Given the description of an element on the screen output the (x, y) to click on. 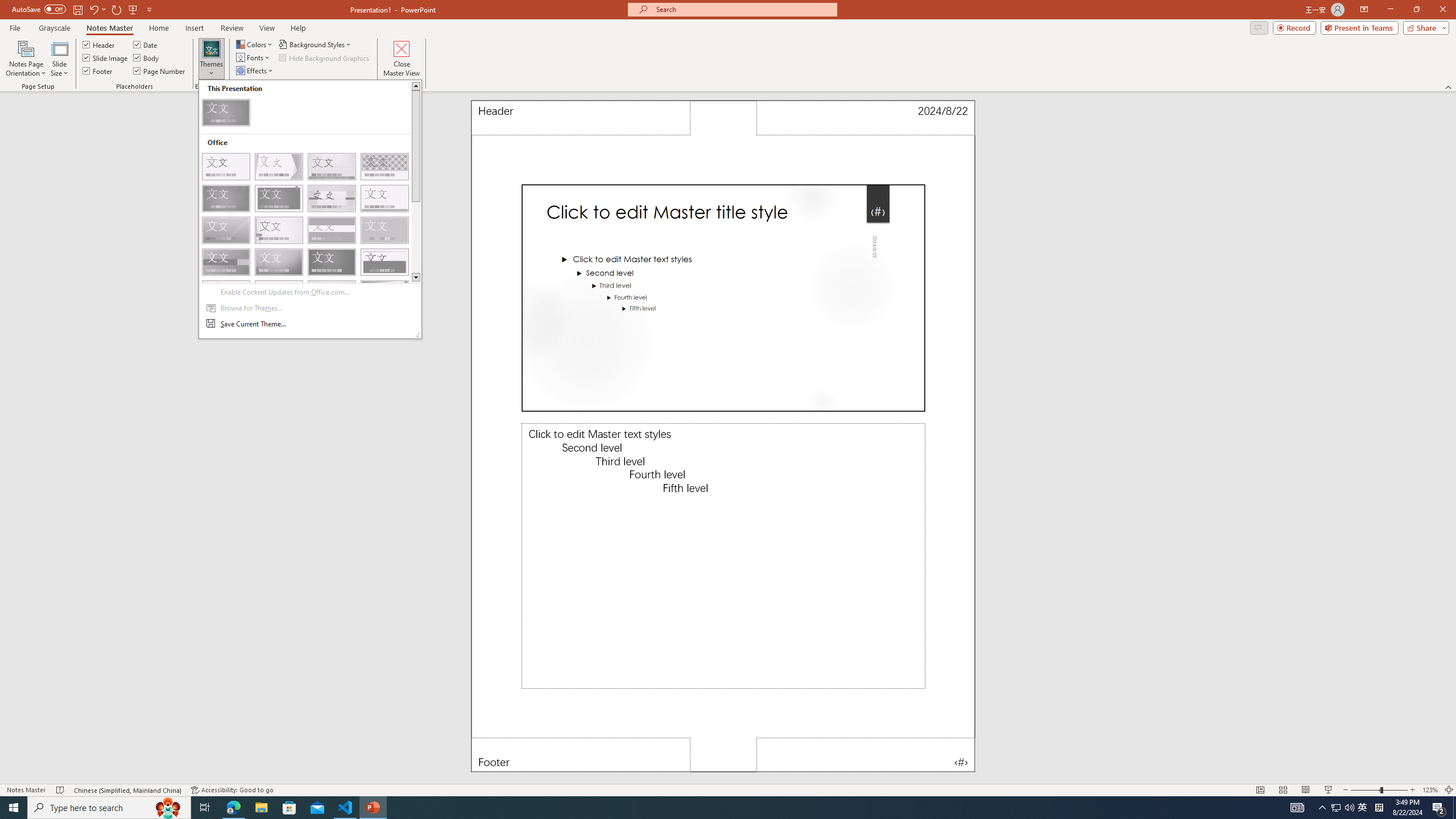
Date (866, 117)
Themes (310, 209)
Footer (580, 754)
Effects (255, 69)
